Given the description of an element on the screen output the (x, y) to click on. 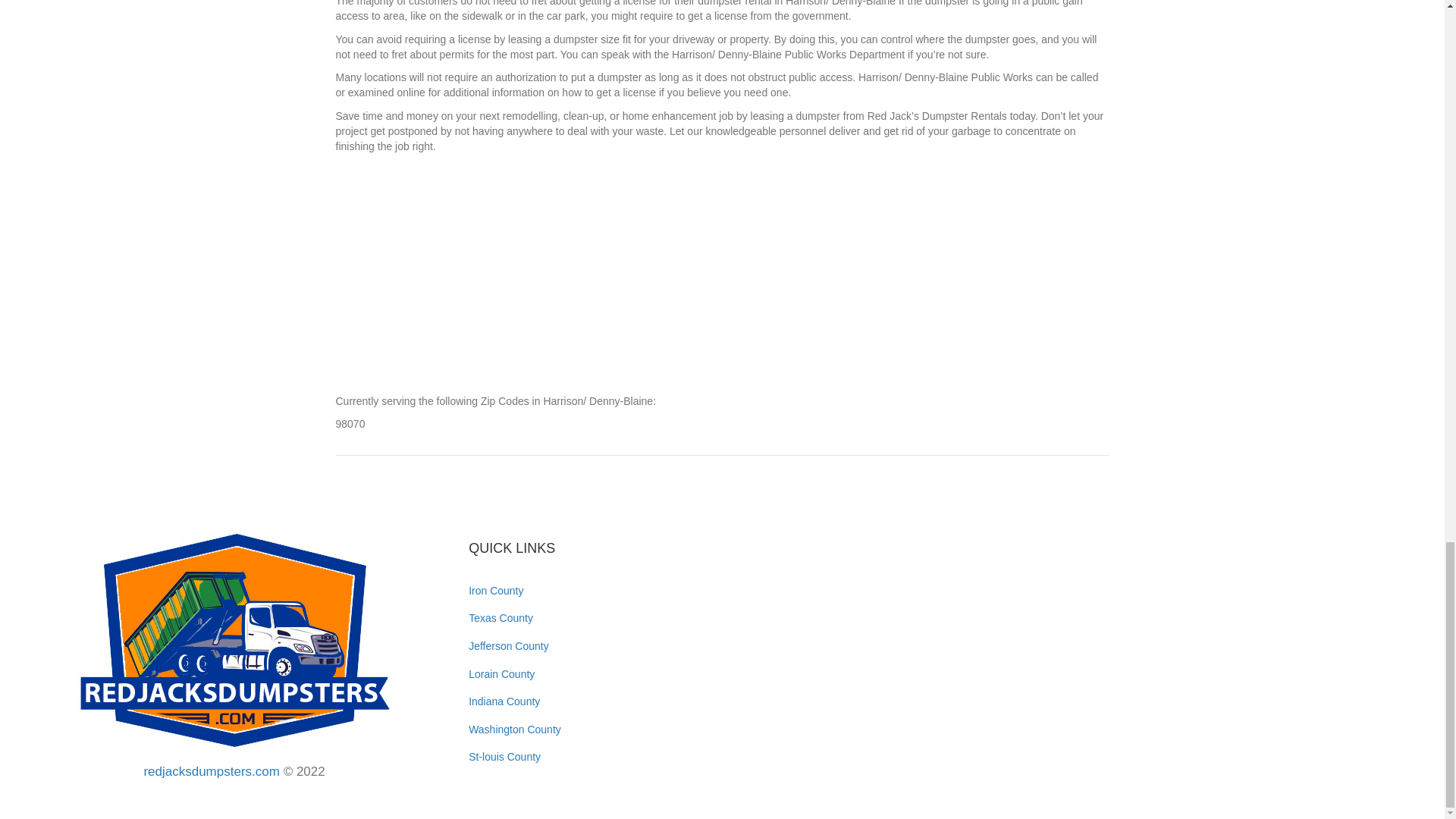
Washington County (514, 729)
Indiana County (504, 701)
Lorain County (501, 674)
redjacksdumpsters.com (210, 771)
logo-png (234, 639)
Iron County (495, 590)
Texas County (500, 617)
St-louis County (504, 756)
Jefferson County (508, 645)
